Given the description of an element on the screen output the (x, y) to click on. 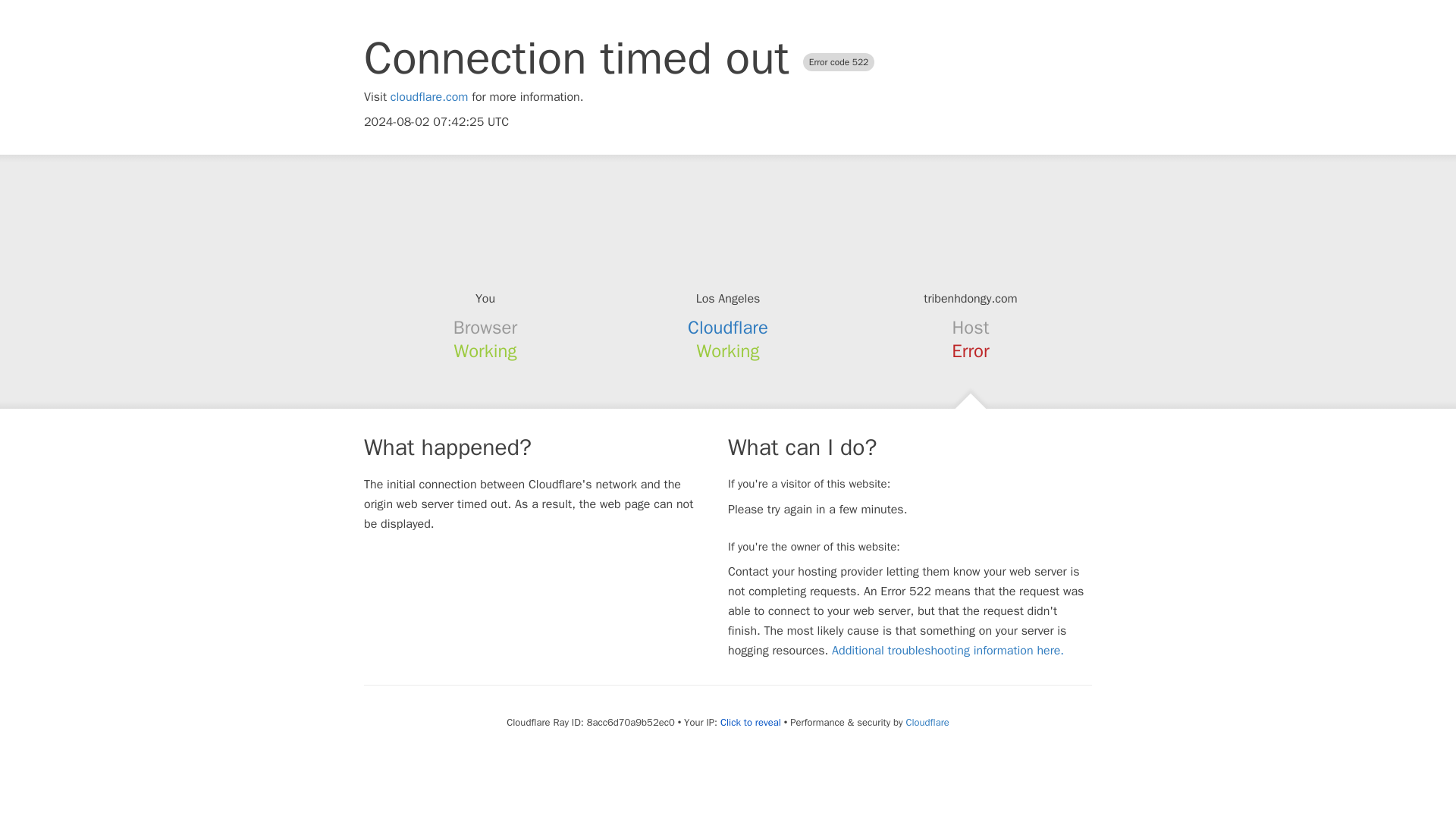
cloudflare.com (429, 96)
Cloudflare (727, 327)
Additional troubleshooting information here. (947, 650)
Cloudflare (927, 721)
Click to reveal (750, 722)
